Given the description of an element on the screen output the (x, y) to click on. 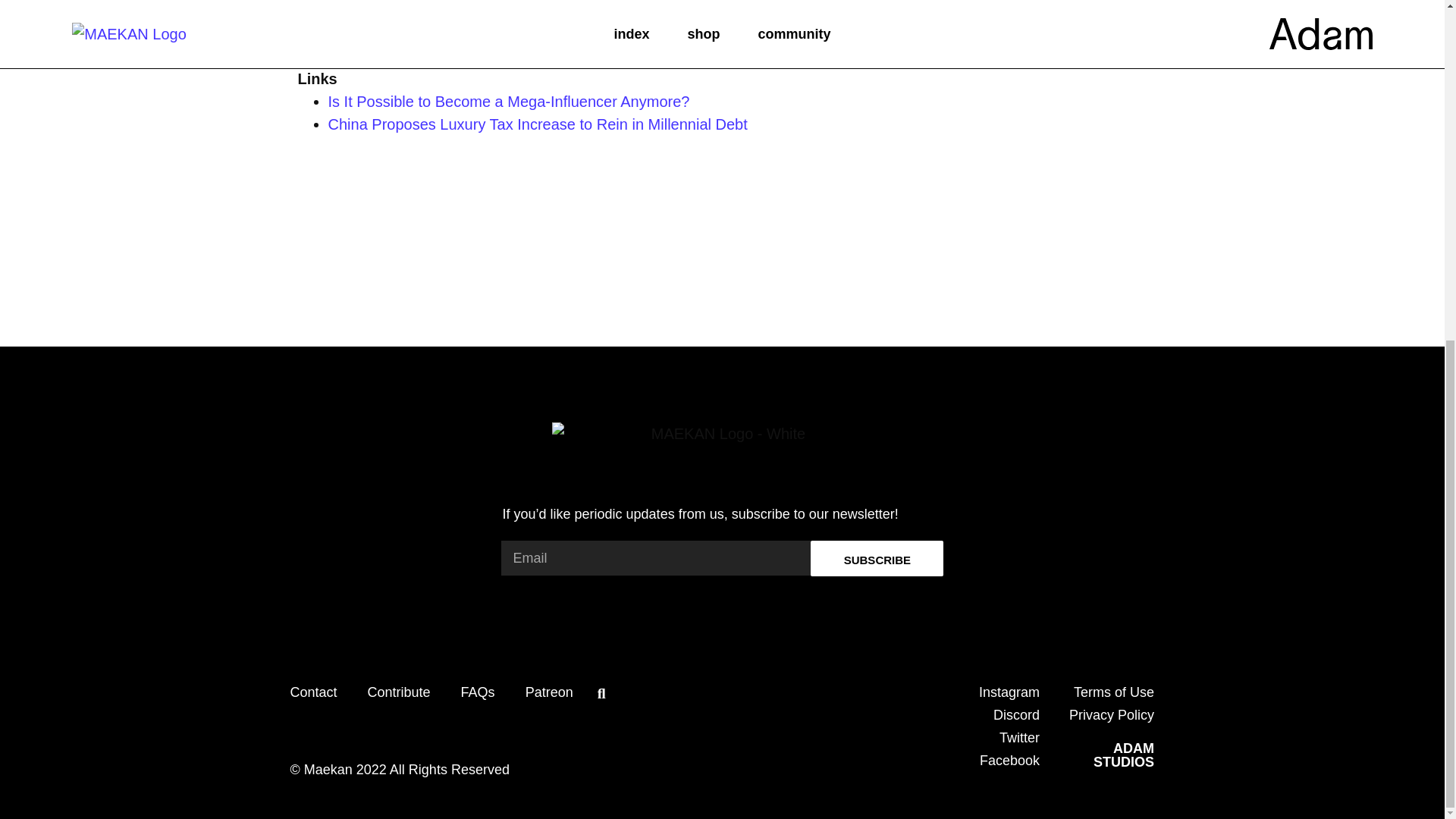
SUBSCRIBE (876, 558)
Twitter (1018, 737)
Contact (312, 691)
Discord (1015, 714)
Contribute (399, 691)
Patreon (549, 691)
Facebook (1009, 760)
Privacy Policy (1111, 714)
FAQs (478, 691)
Terms of Use (1114, 692)
Is It Possible to Become a Mega-Influencer Anymore? (507, 101)
Instagram (1123, 755)
